Given the description of an element on the screen output the (x, y) to click on. 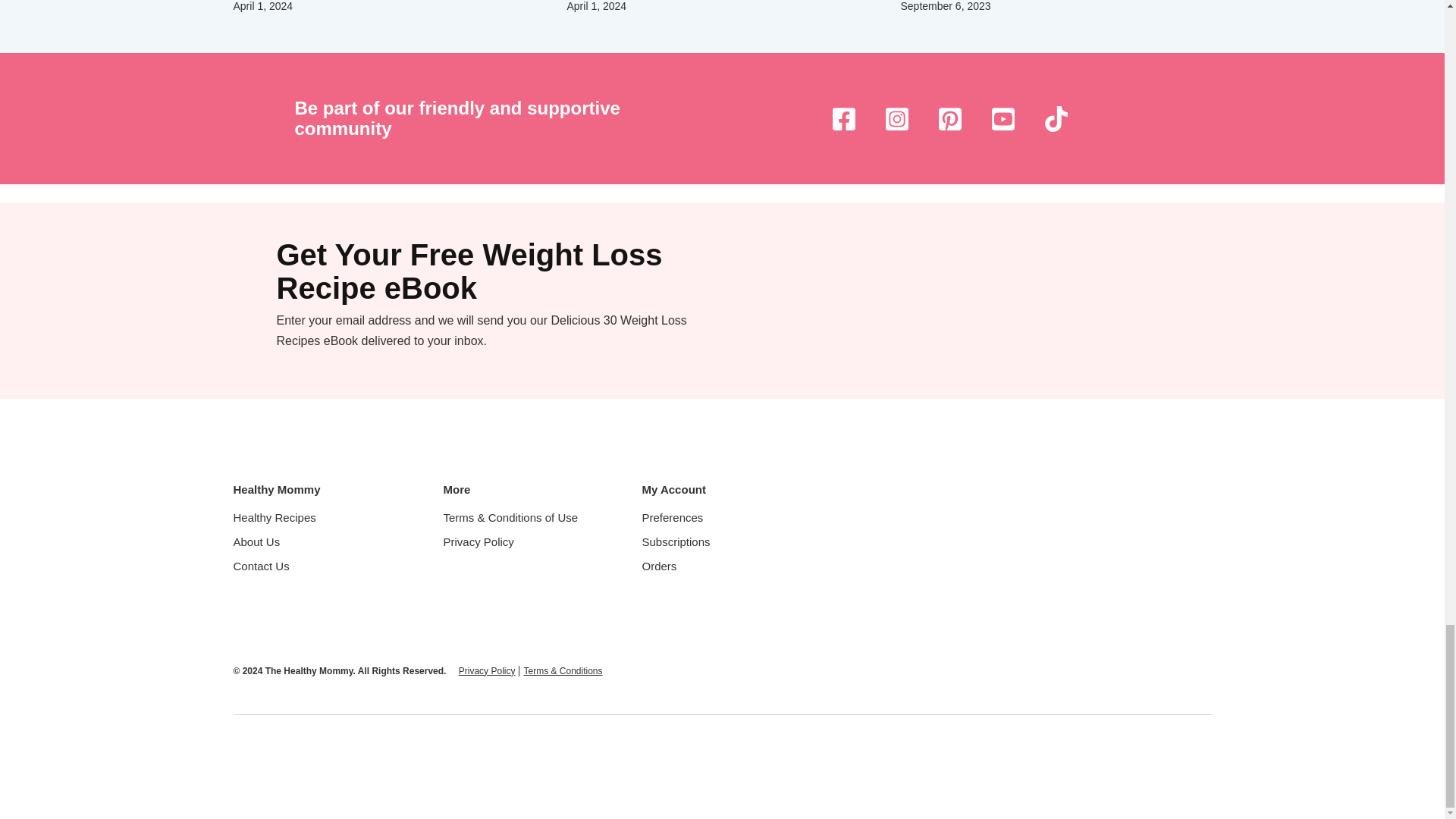
Facebook (844, 118)
Privacy Policy (486, 670)
Tiktok (1055, 118)
Instagram (896, 118)
Snapchat (1003, 118)
Pinterest (950, 118)
